Given the description of an element on the screen output the (x, y) to click on. 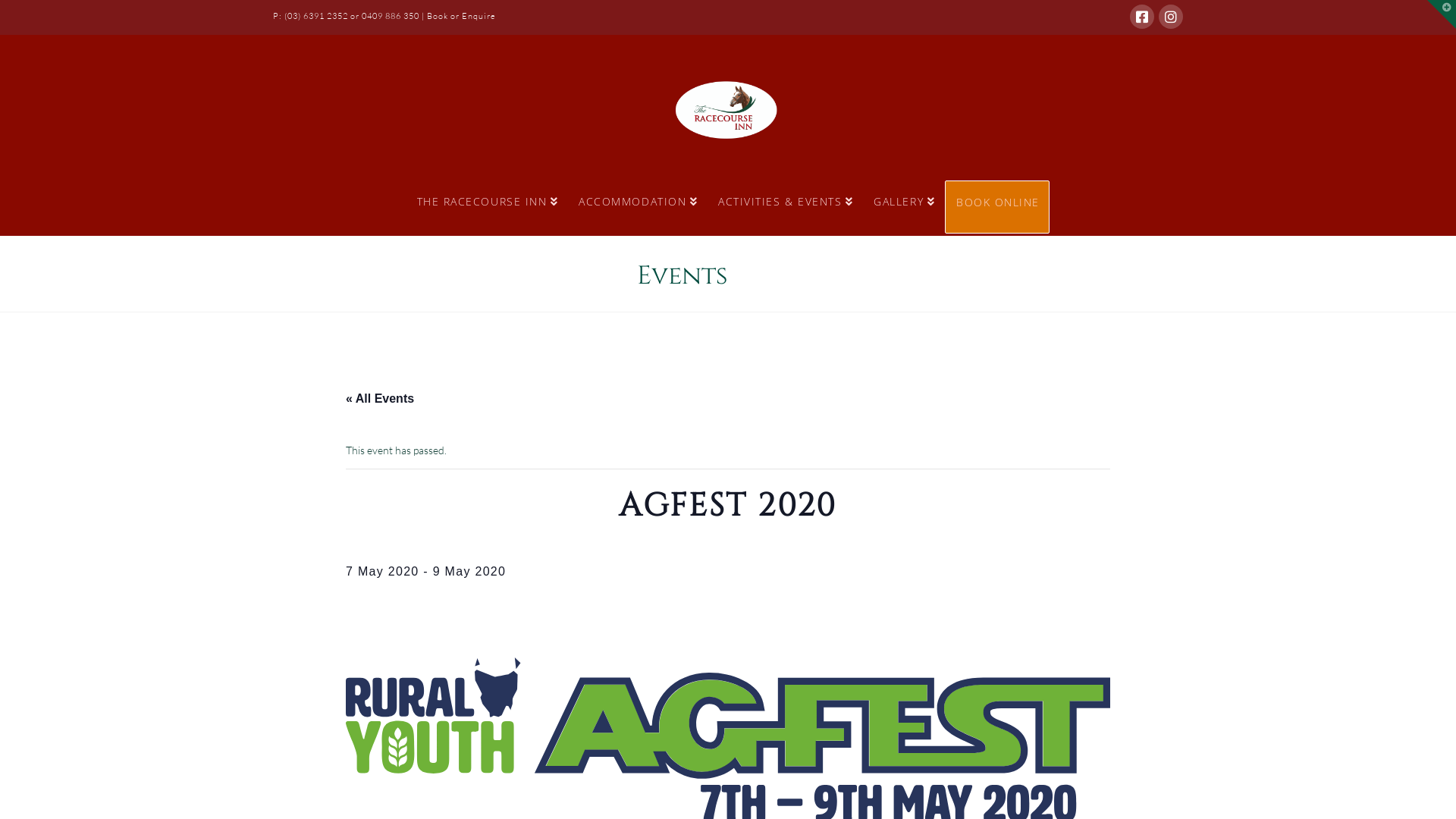
Book or Enquire Element type: text (460, 15)
Facebook Element type: hover (1141, 16)
ACTIVITIES & EVENTS Element type: text (784, 206)
GALLERY Element type: text (903, 206)
BOOK ONLINE Element type: text (996, 206)
Instagram Element type: hover (1170, 16)
(03) 6391 2352 or 0409 886 350 Element type: text (351, 15)
ACCOMMODATION Element type: text (637, 206)
THE RACECOURSE INN Element type: text (487, 206)
